Given the description of an element on the screen output the (x, y) to click on. 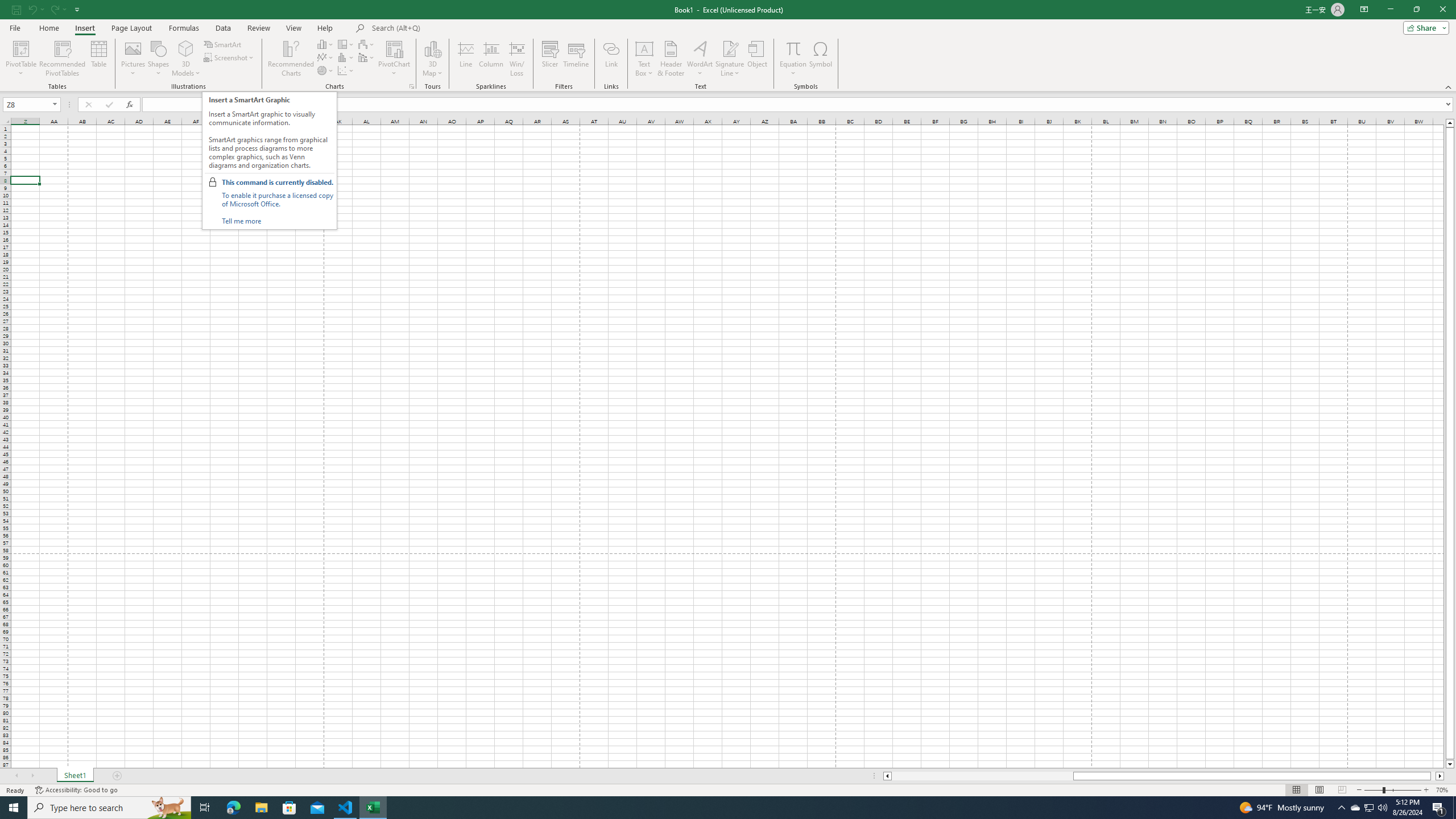
Shapes (158, 58)
Class: NetUIImage (212, 181)
System (6, 6)
Scroll Right (32, 775)
Data (223, 28)
